Given the description of an element on the screen output the (x, y) to click on. 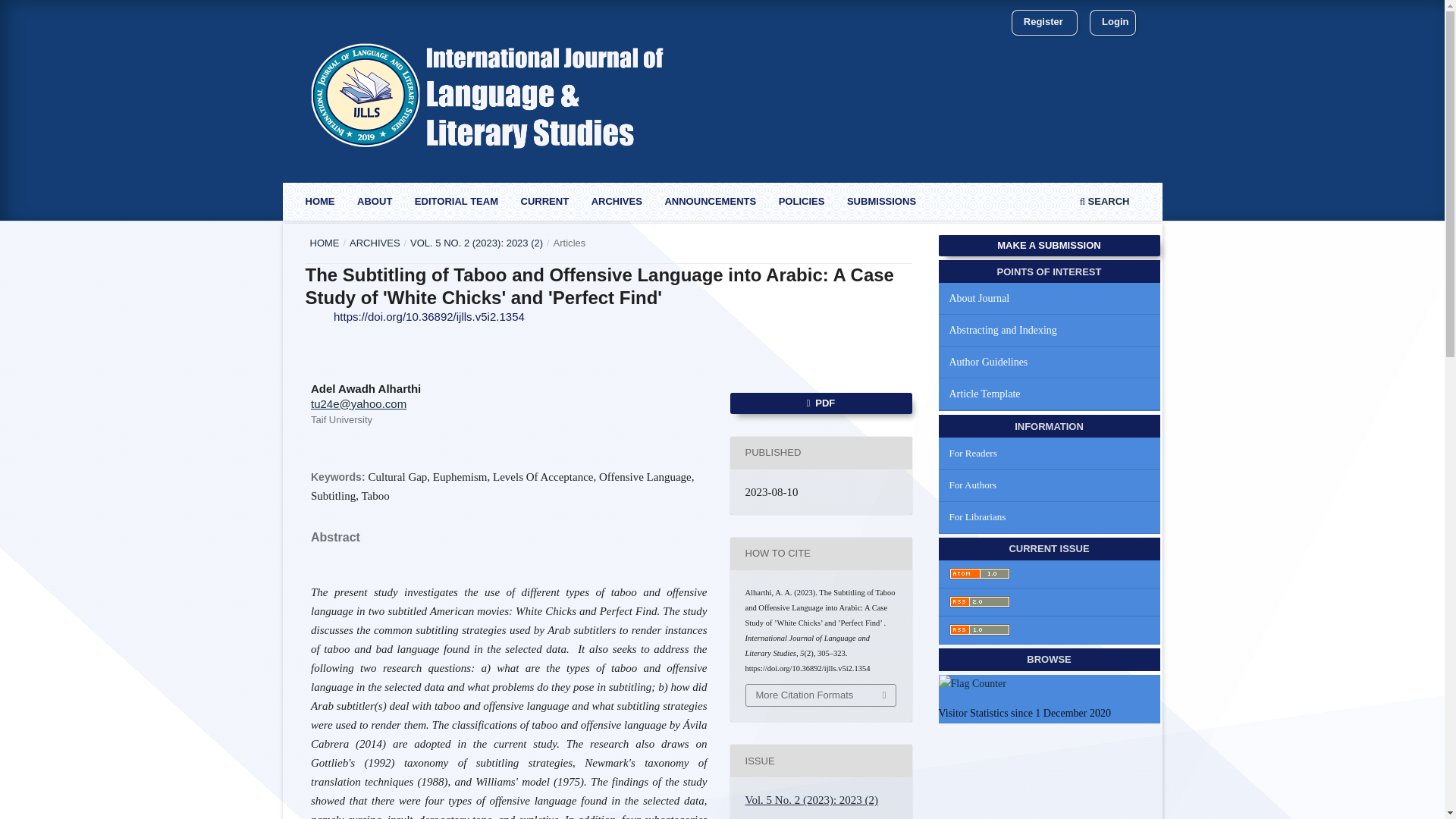
More Citation Formats (820, 694)
HOME (323, 242)
HOME (319, 203)
ARCHIVES (374, 242)
CURRENT (544, 203)
SUBMISSIONS (880, 203)
EDITORIAL TEAM (455, 203)
SEARCH (1104, 203)
Login (1114, 21)
Register (1043, 21)
